Given the description of an element on the screen output the (x, y) to click on. 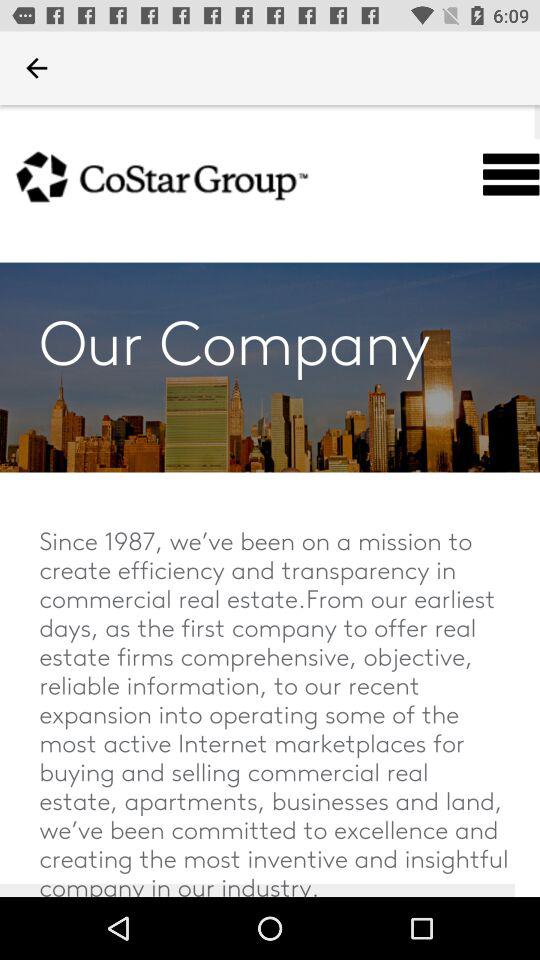
take me to the site (270, 501)
